Given the description of an element on the screen output the (x, y) to click on. 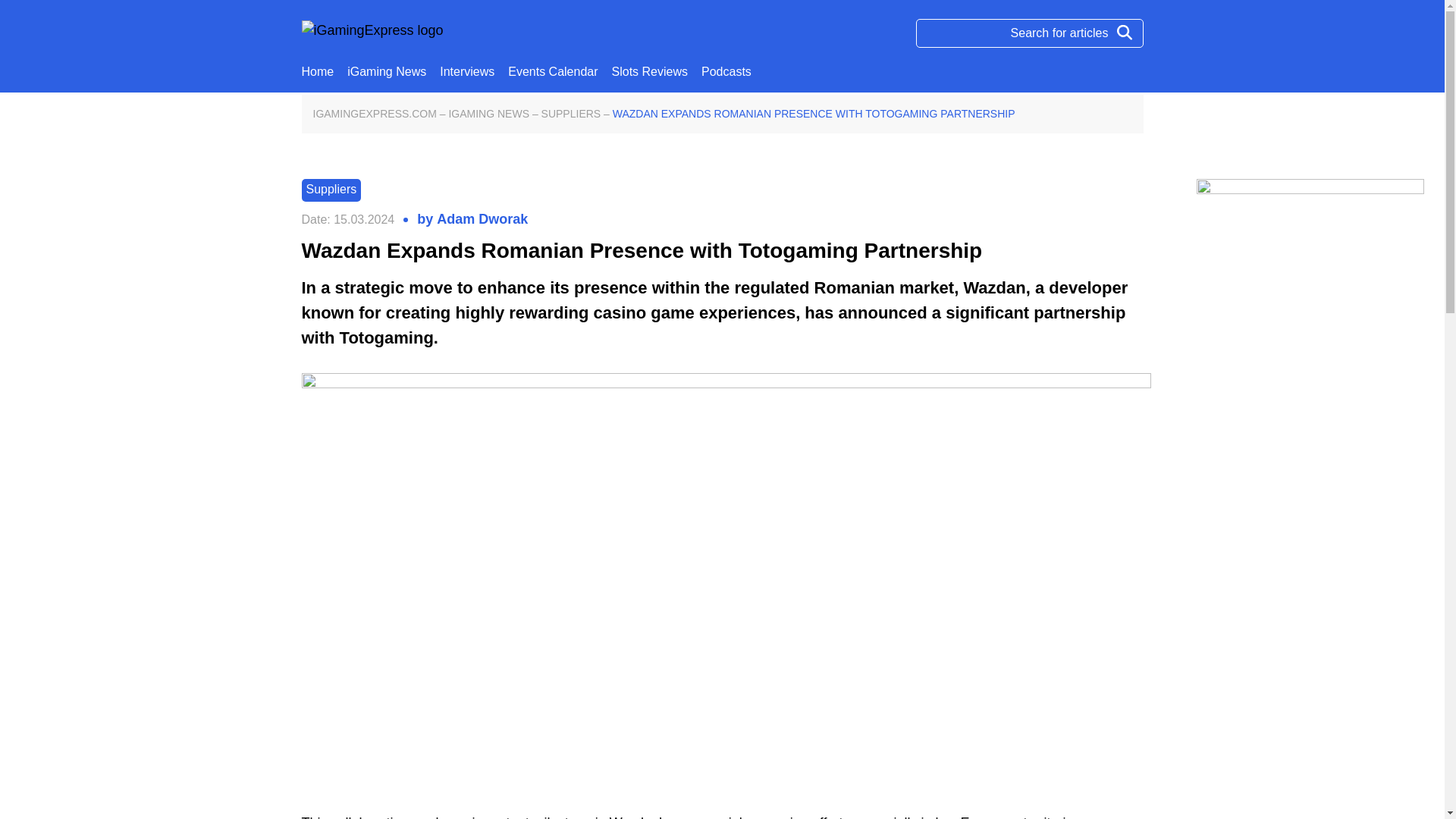
Adam Dworak (481, 219)
Search for articles (1028, 32)
IGAMING NEWS (488, 114)
SUPPLIERS (571, 114)
Home (317, 72)
Podcasts (726, 72)
IGAMINGEXPRESS.COM (374, 114)
iGaming News (386, 72)
Interviews (467, 72)
Slots Reviews (649, 72)
